Given the description of an element on the screen output the (x, y) to click on. 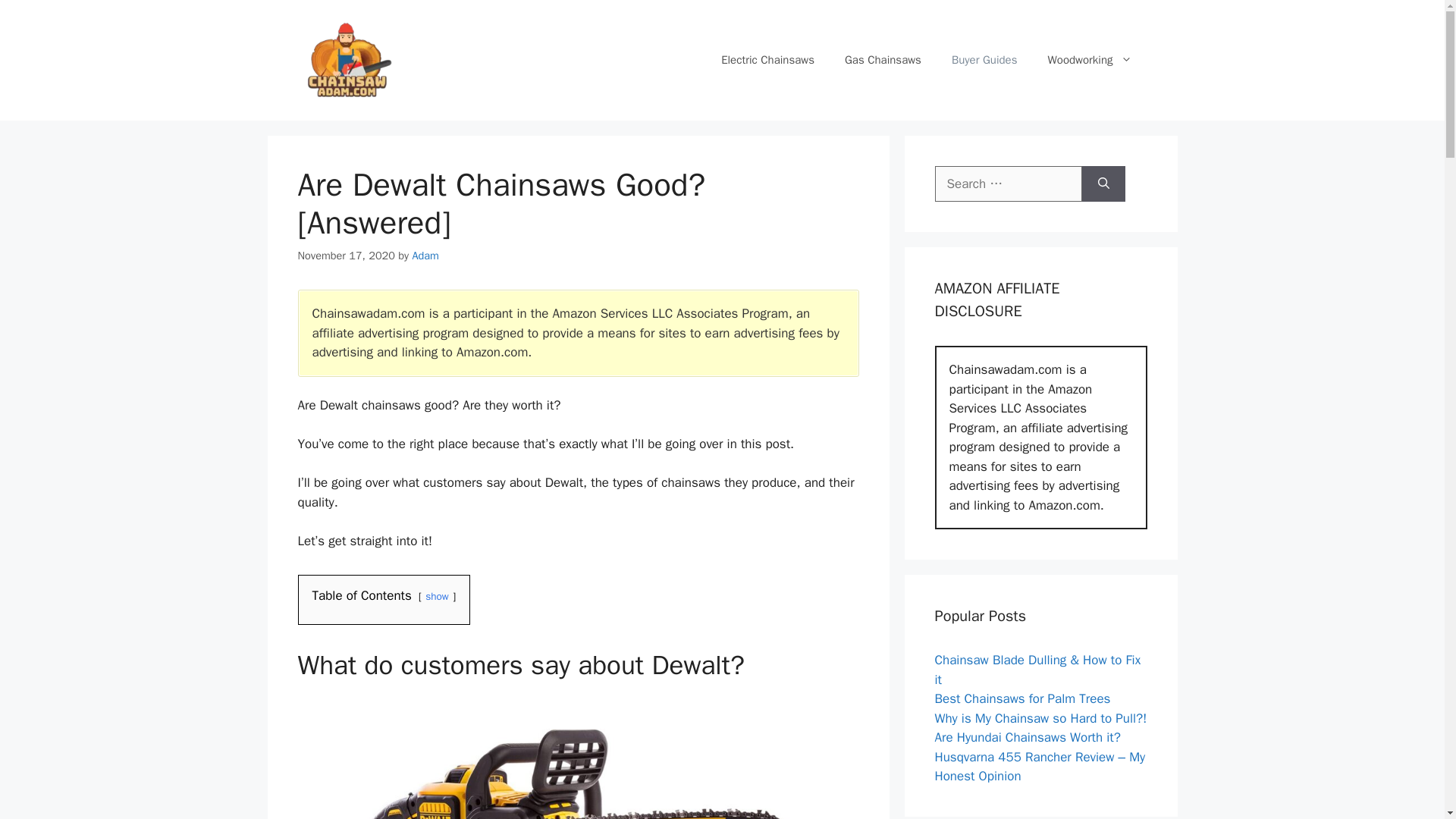
show (436, 595)
Electric Chainsaws (767, 59)
Best Chainsaws for Palm Trees (1021, 698)
Search for: (1007, 184)
Buyer Guides (984, 59)
Why is My Chainsaw so Hard to Pull?! (1040, 718)
Adam (425, 255)
View all posts by Adam (425, 255)
Are Hyundai Chainsaws Worth it? (1026, 737)
Woodworking (1089, 59)
Gas Chainsaws (882, 59)
